Given the description of an element on the screen output the (x, y) to click on. 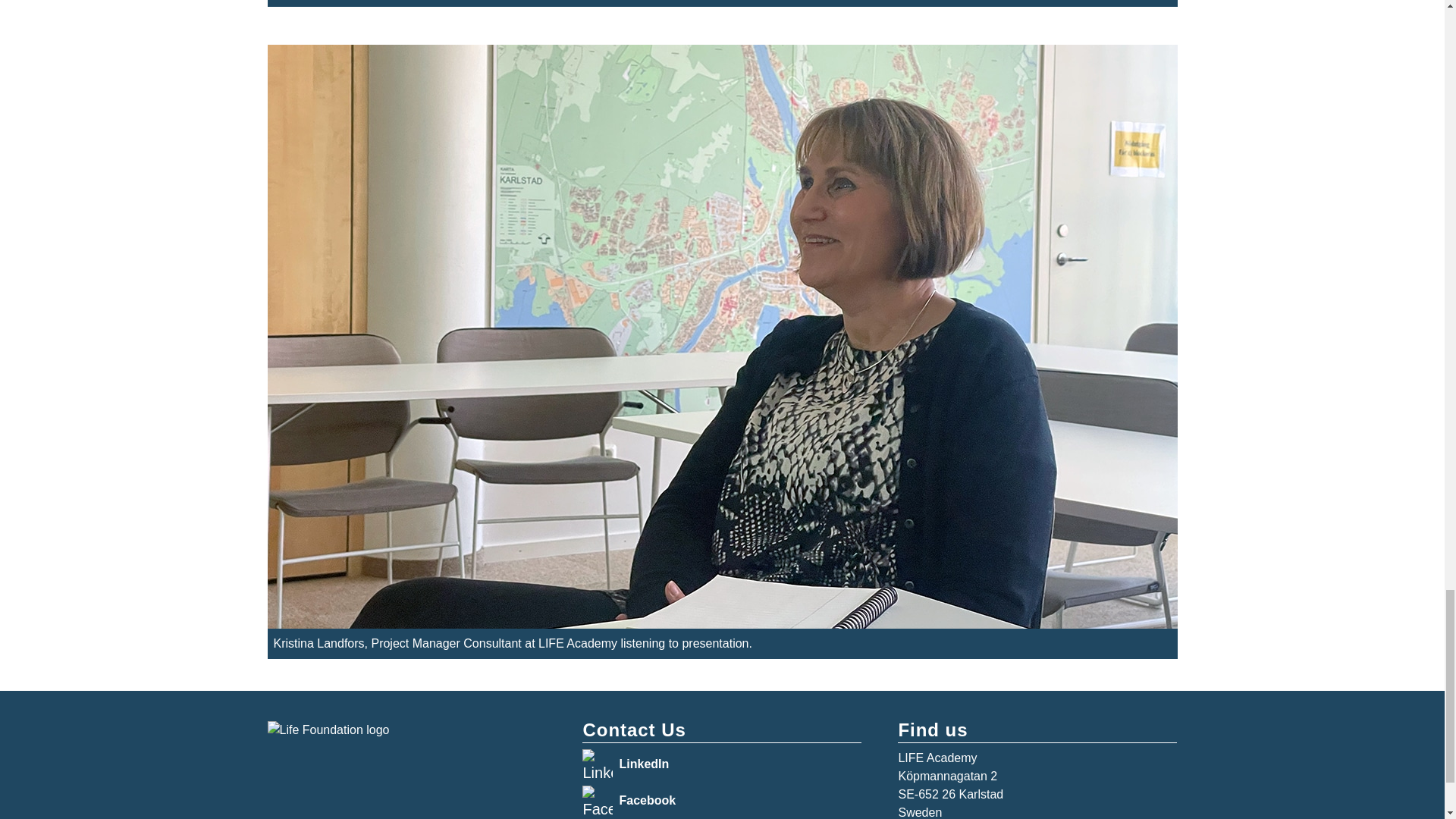
Facebook (646, 800)
LinkedIn (643, 764)
Linkedin (597, 800)
Linkedin (597, 764)
